Given the description of an element on the screen output the (x, y) to click on. 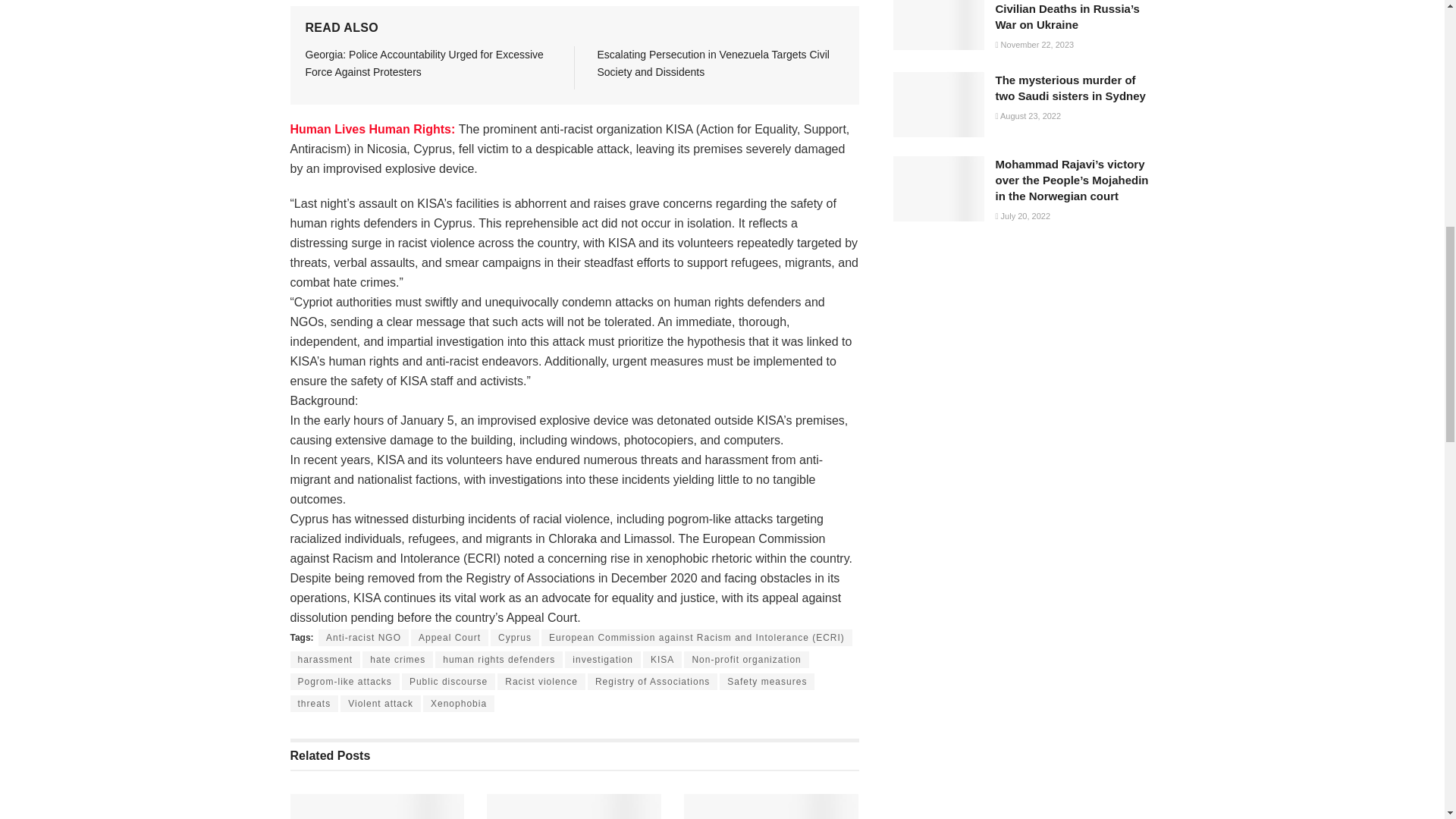
Human Lives Human Rights: (373, 128)
Cyprus (514, 637)
Appeal Court (448, 637)
harassment (324, 659)
Anti-racist NGO (363, 637)
